Given the description of an element on the screen output the (x, y) to click on. 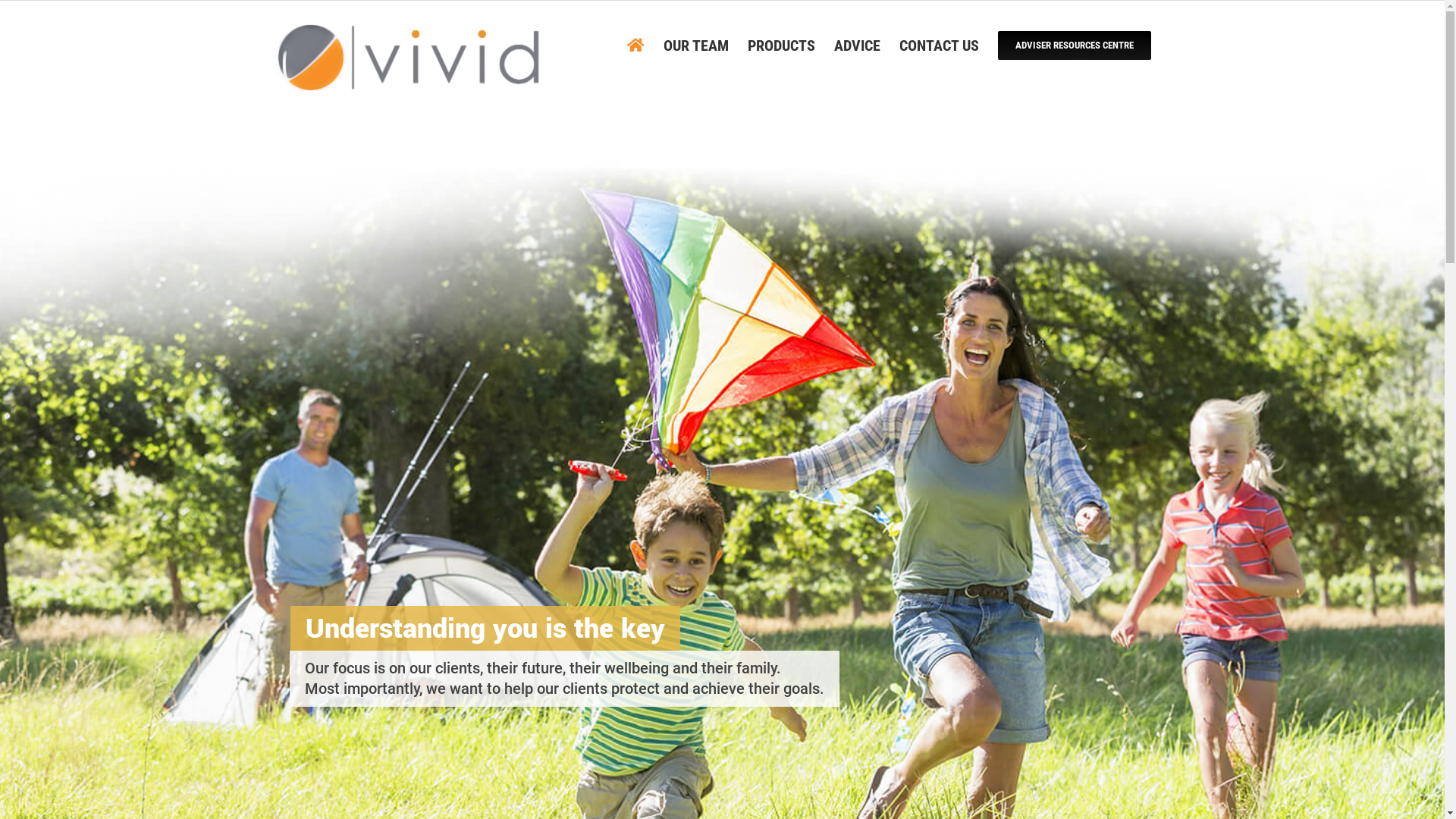
ADVICE Element type: text (857, 45)
CONTACT US Element type: text (939, 45)
ADVISER RESOURCES CENTRE Element type: text (1074, 45)
OUR TEAM Element type: text (695, 45)
PRODUCTS Element type: text (781, 45)
